Given the description of an element on the screen output the (x, y) to click on. 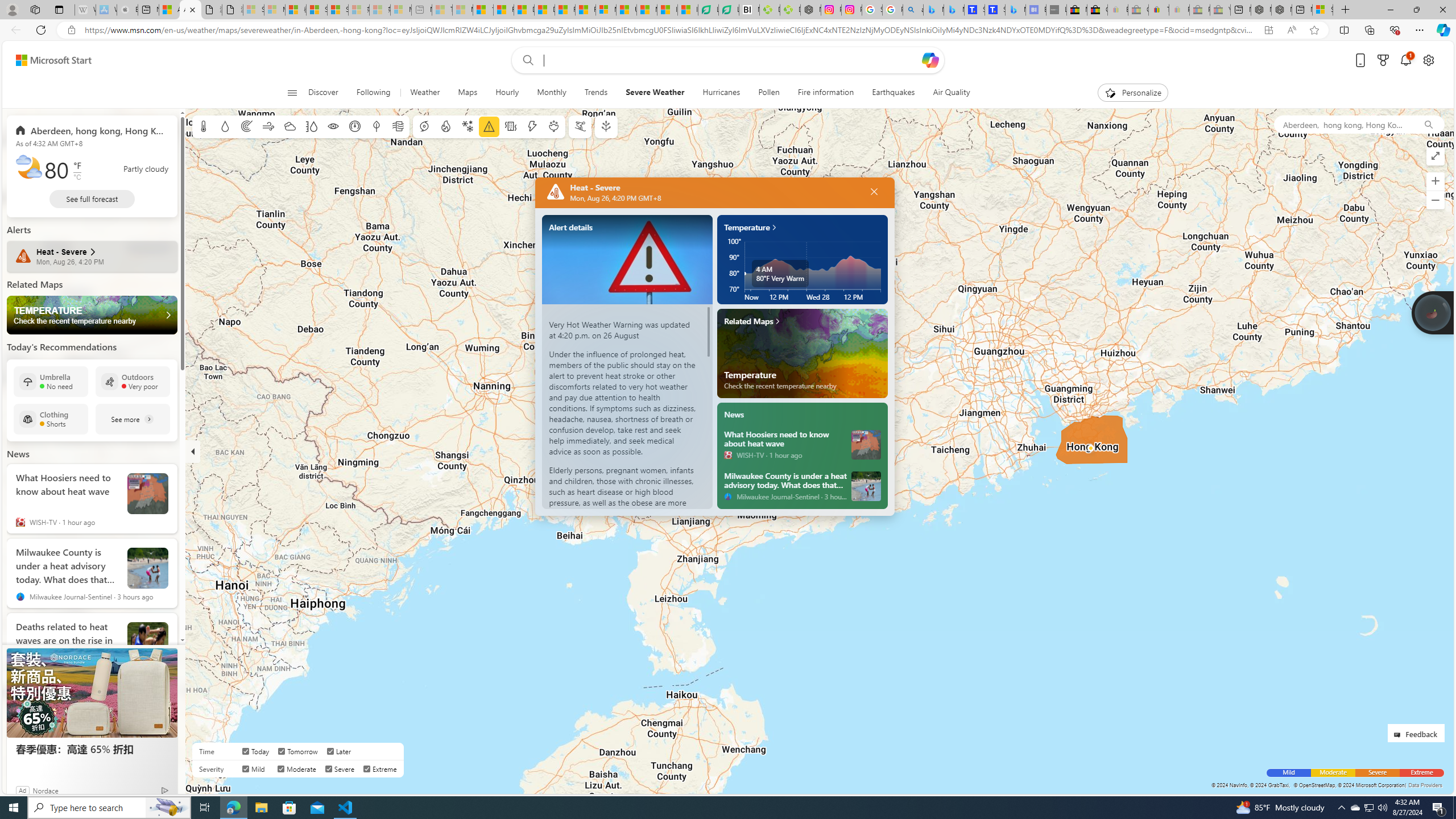
Sign in to your Microsoft account - Sleeping (253, 9)
Clothing Shorts (50, 418)
Drinking tea every day is proven to delay biological aging (544, 9)
Hourly (507, 92)
Air Quality (946, 92)
Temperature Check the recent temperature nearby (92, 314)
